Given the description of an element on the screen output the (x, y) to click on. 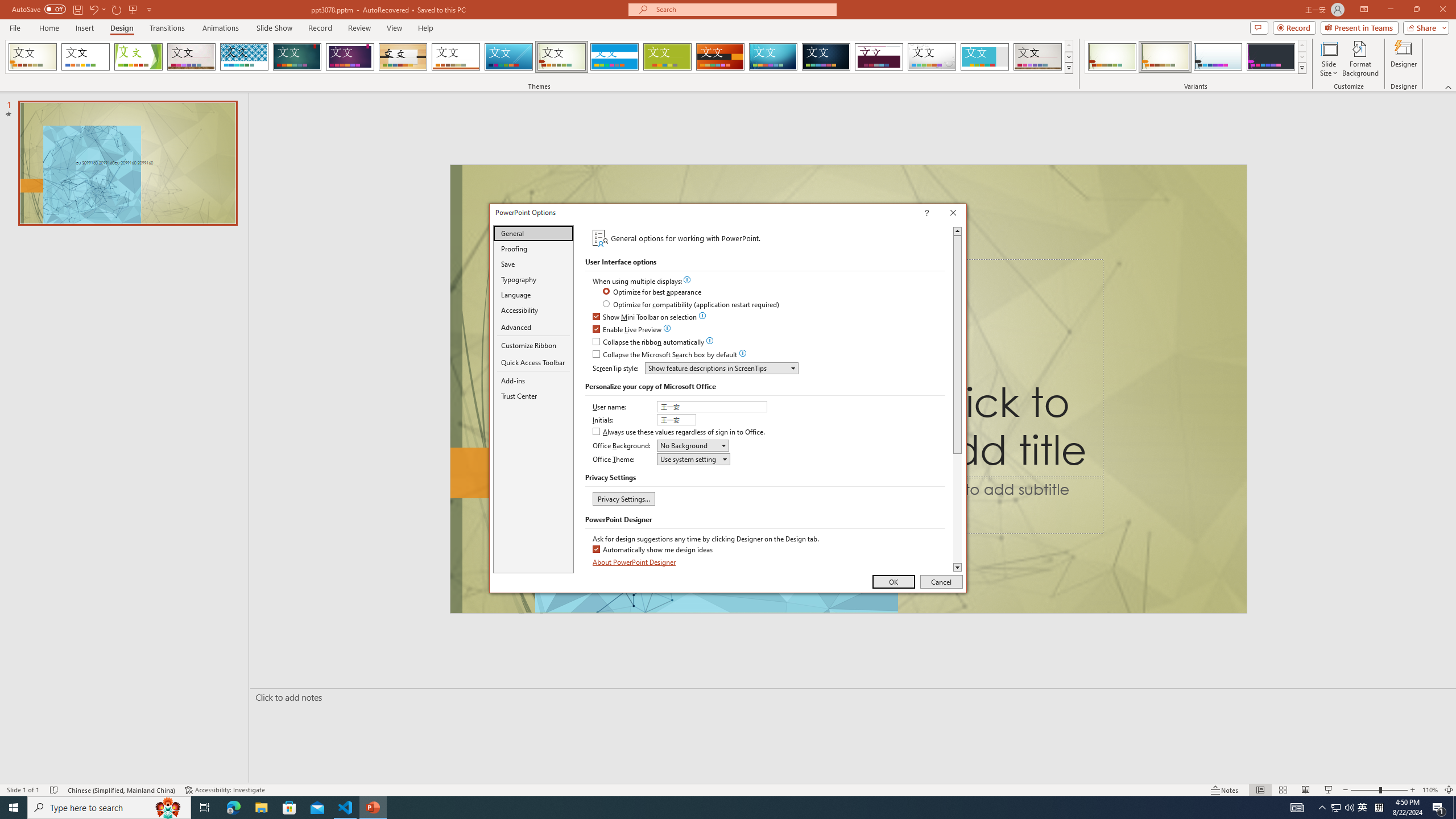
Task View (204, 807)
User Promoted Notification Area (1342, 807)
About PowerPoint Designer (635, 561)
Optimize for best appearance (652, 292)
General (533, 233)
Damask Loading Preview... (826, 56)
Trust Center (533, 395)
Add-ins (533, 380)
Show Mini Toolbar on selection (645, 317)
